Given the description of an element on the screen output the (x, y) to click on. 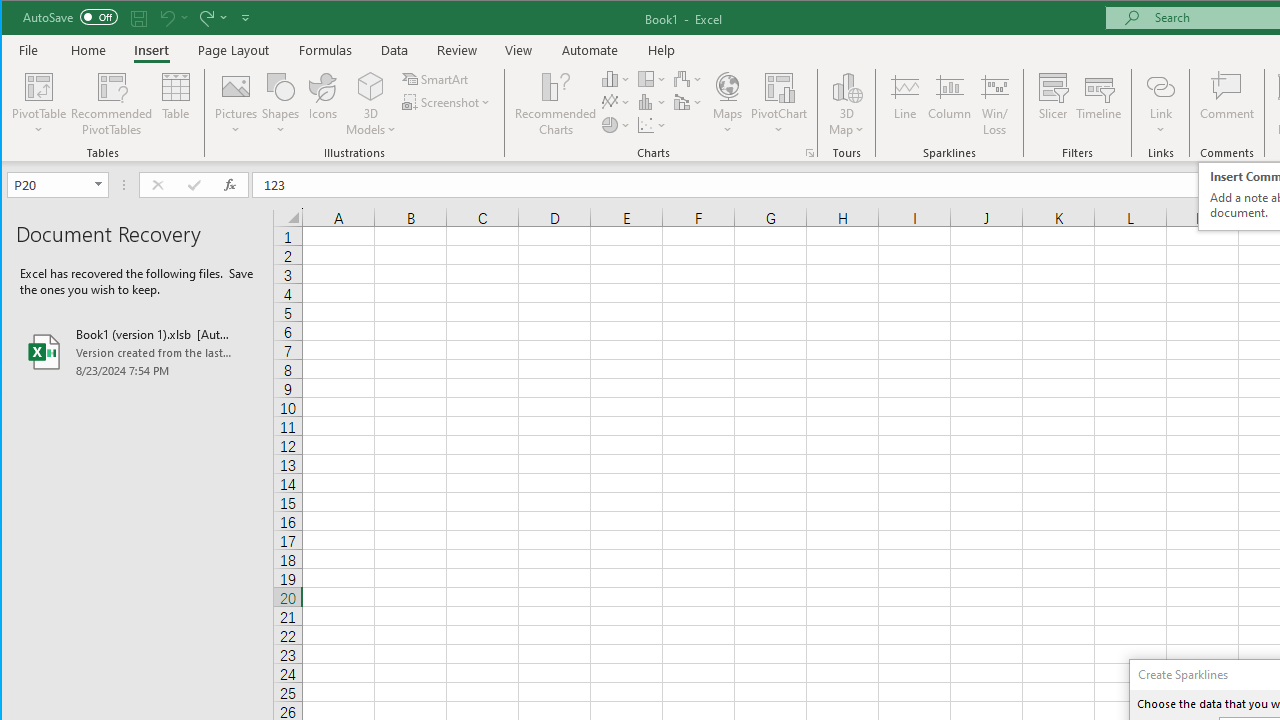
Slicer... (1052, 104)
Maps (727, 104)
Insert Scatter (X, Y) or Bubble Chart (652, 124)
3D Map (846, 86)
